Given the description of an element on the screen output the (x, y) to click on. 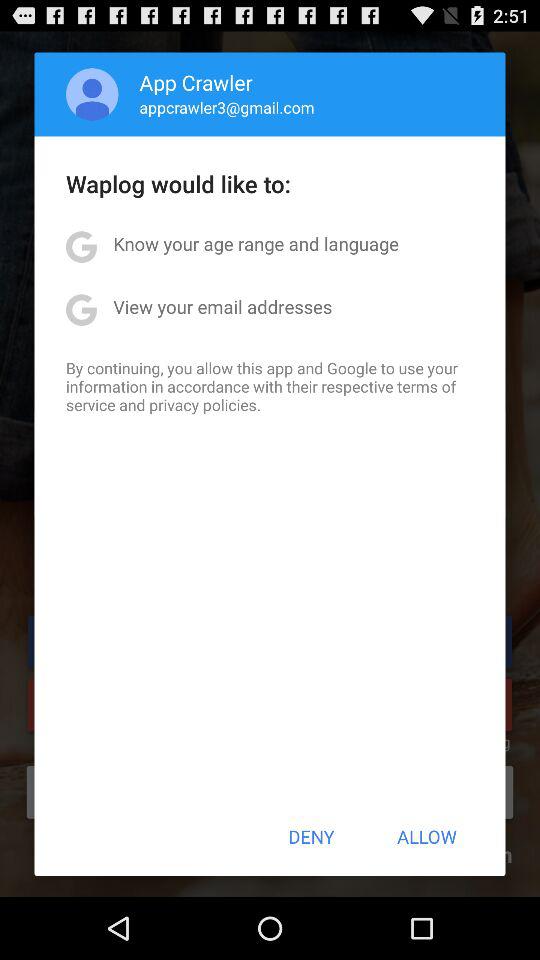
open the icon next to the allow item (311, 836)
